Given the description of an element on the screen output the (x, y) to click on. 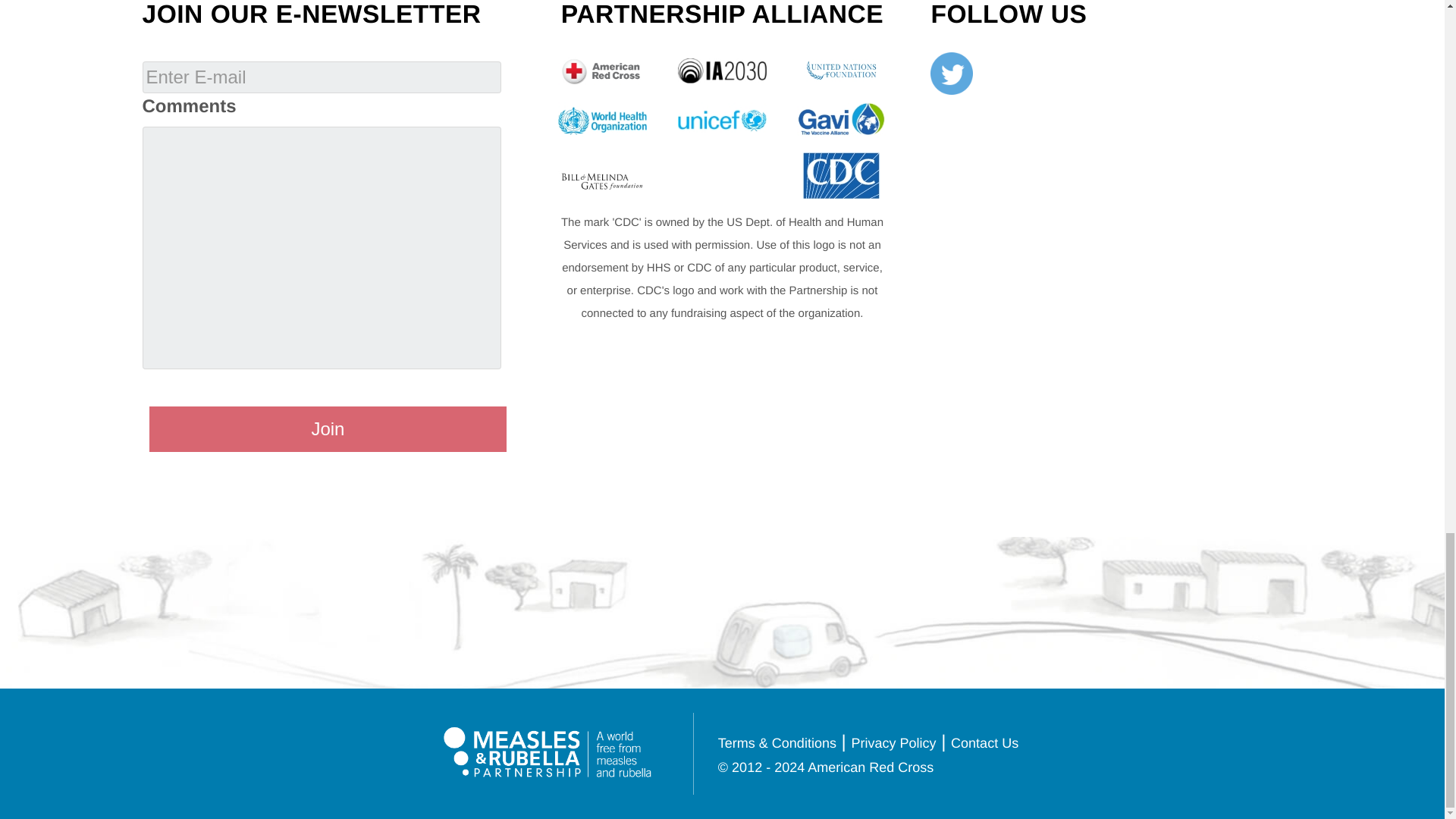
Join (327, 429)
